Given the description of an element on the screen output the (x, y) to click on. 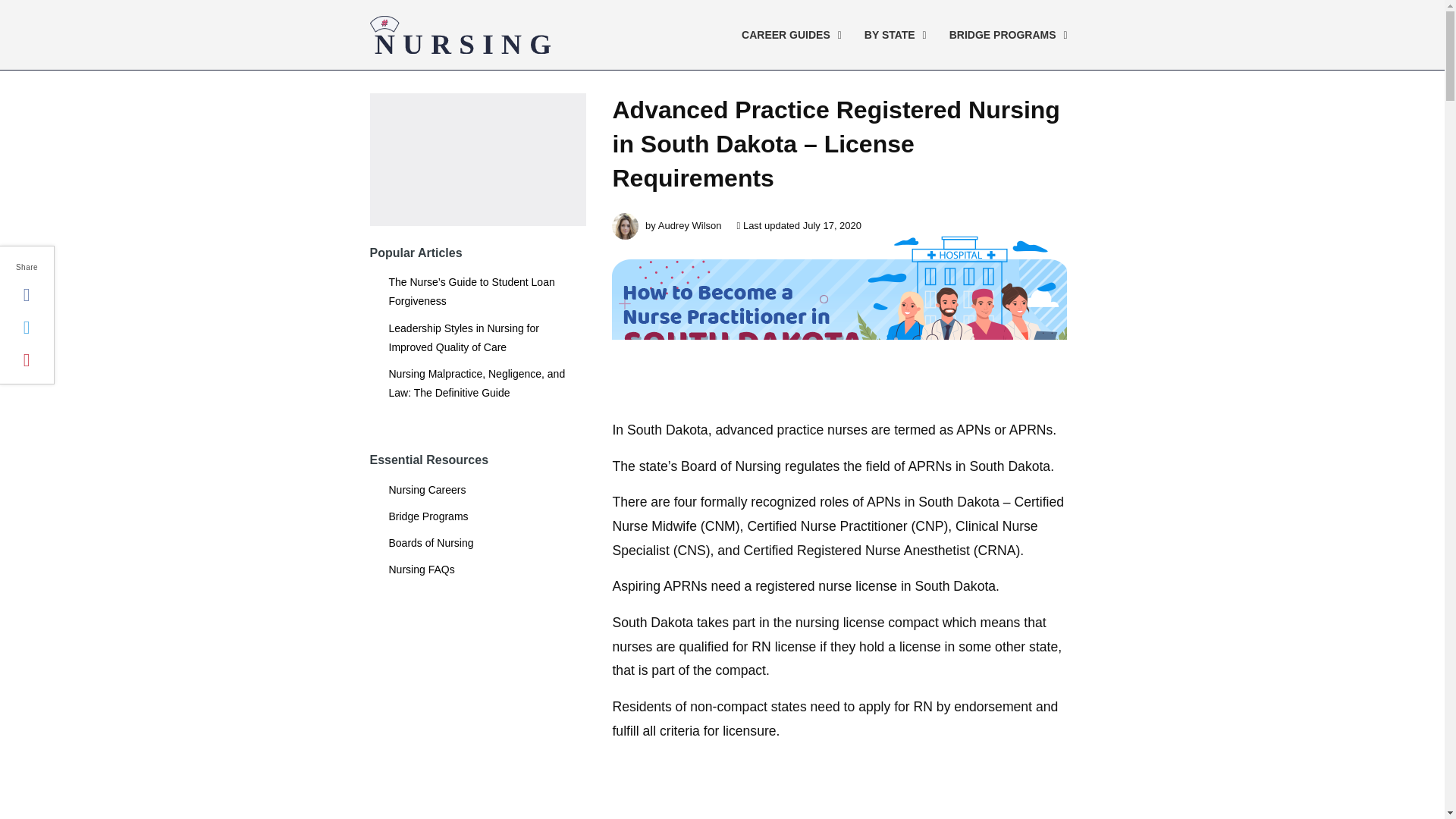
BRIDGE PROGRAMS (1004, 34)
BY STATE (891, 34)
CAREER GUIDES (900, 34)
